Given the description of an element on the screen output the (x, y) to click on. 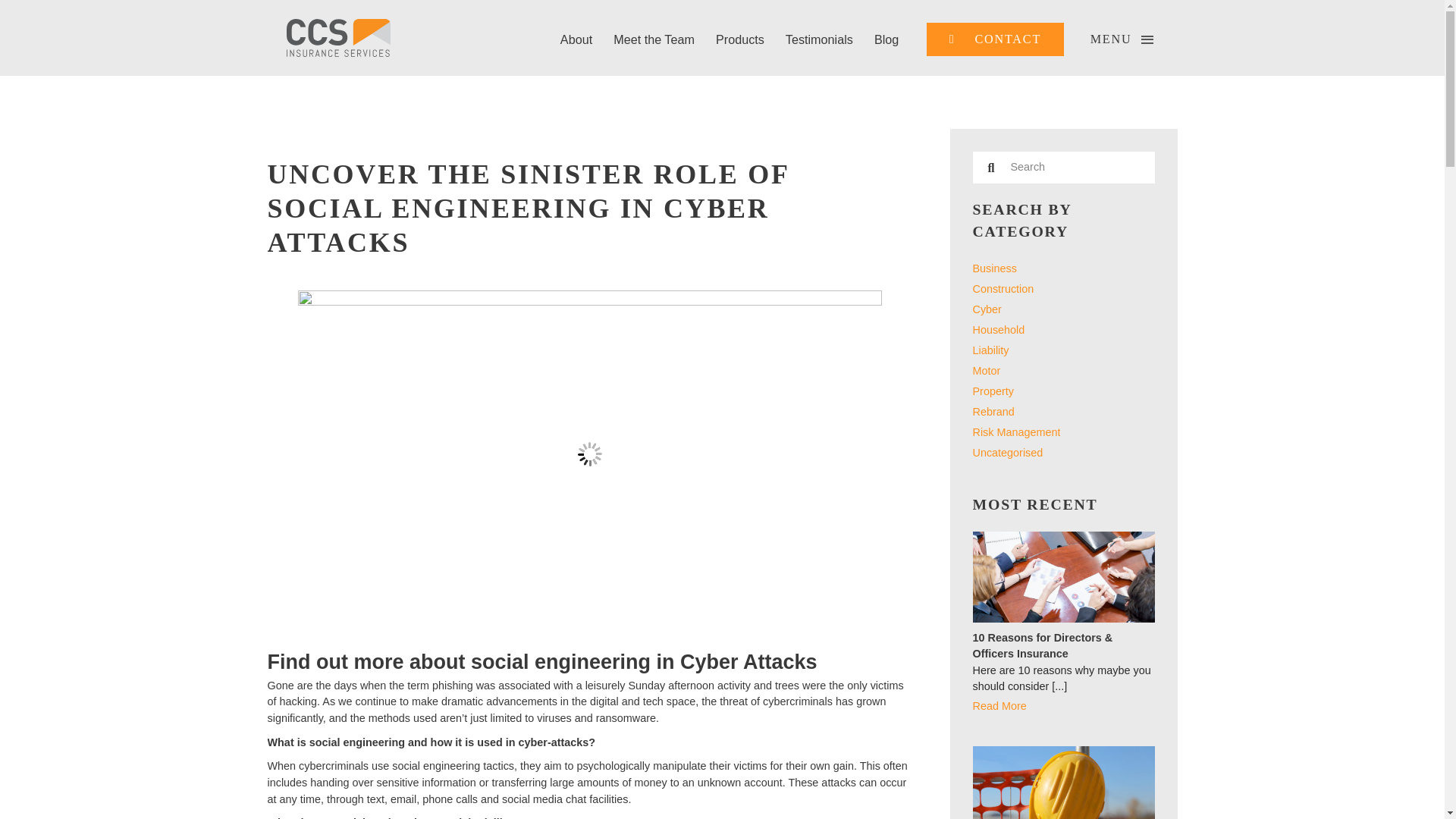
Rebrand (992, 411)
CONTACT (995, 39)
Construction (1002, 288)
Uncategorised (1007, 452)
About (576, 39)
Business (994, 268)
Cyber (986, 309)
Liability (990, 349)
Testimonials (818, 39)
Household (998, 329)
MENU (1122, 39)
Meet the Team (653, 39)
Products (739, 39)
Motor (986, 370)
Blog (885, 39)
